Given the description of an element on the screen output the (x, y) to click on. 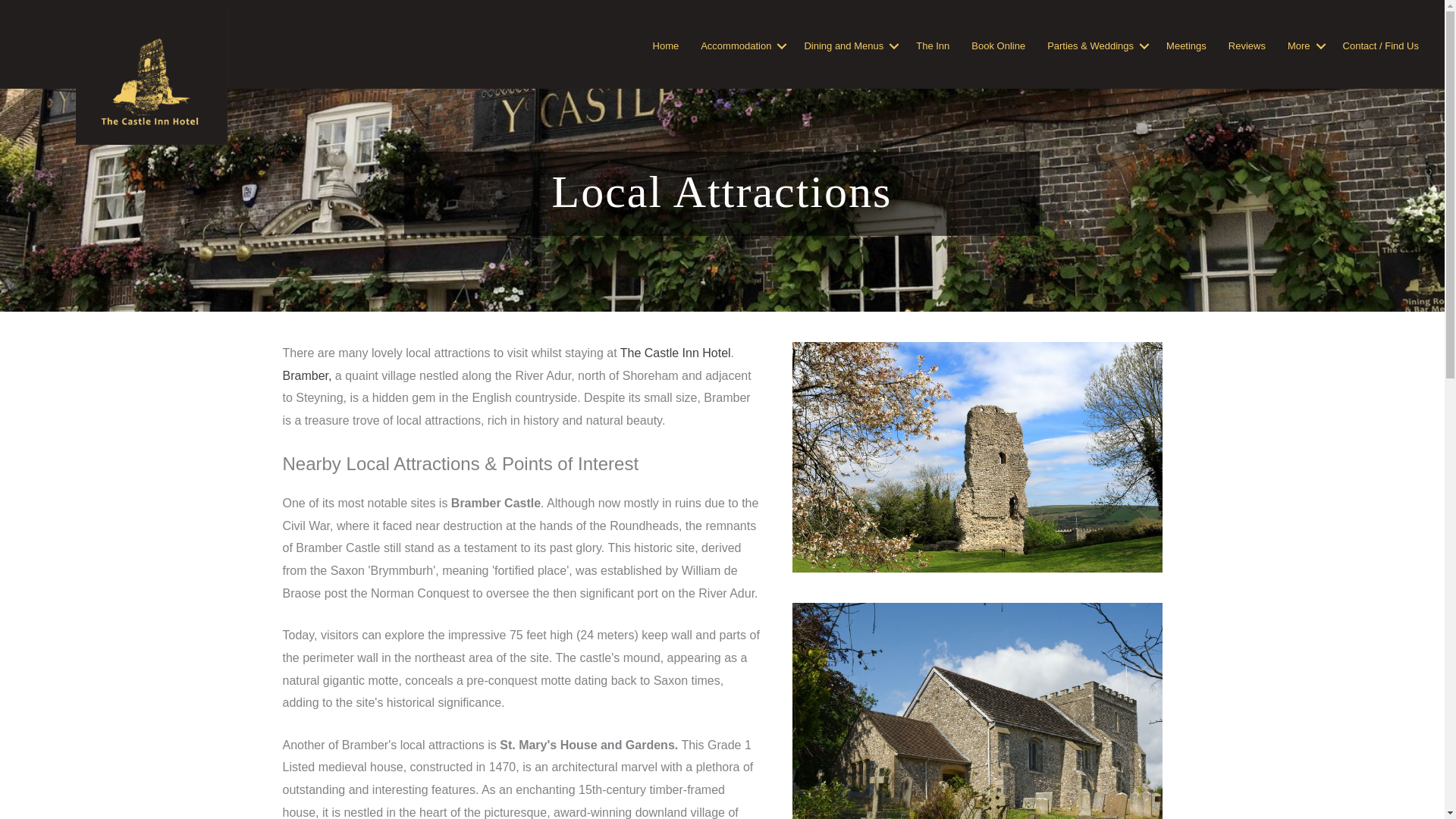
Meetings (1186, 46)
logo (151, 76)
Book Online (997, 46)
More (1304, 46)
Bramber, (306, 375)
St Nicholas Church (976, 710)
Accommodation (741, 46)
Bramber (976, 457)
Reviews (1246, 46)
The Castle Inn Hotel (675, 352)
Dining and Menus (848, 46)
Home (666, 46)
The Inn (932, 46)
